Given the description of an element on the screen output the (x, y) to click on. 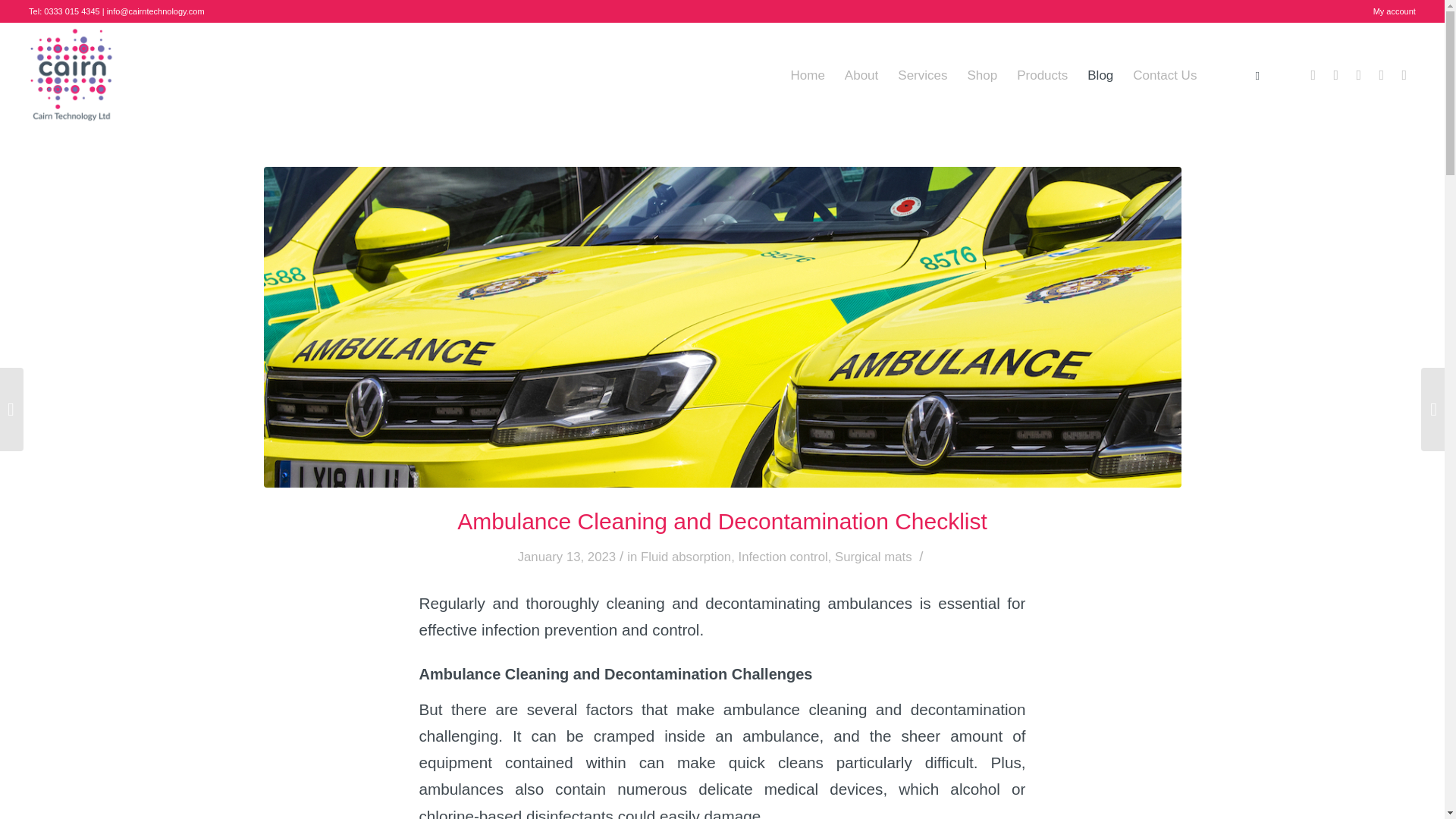
Facebook (1312, 74)
My account (1394, 11)
Twitter (1336, 74)
Instagram (1381, 74)
Youtube (1404, 74)
LinkedIn (1359, 74)
